Given the description of an element on the screen output the (x, y) to click on. 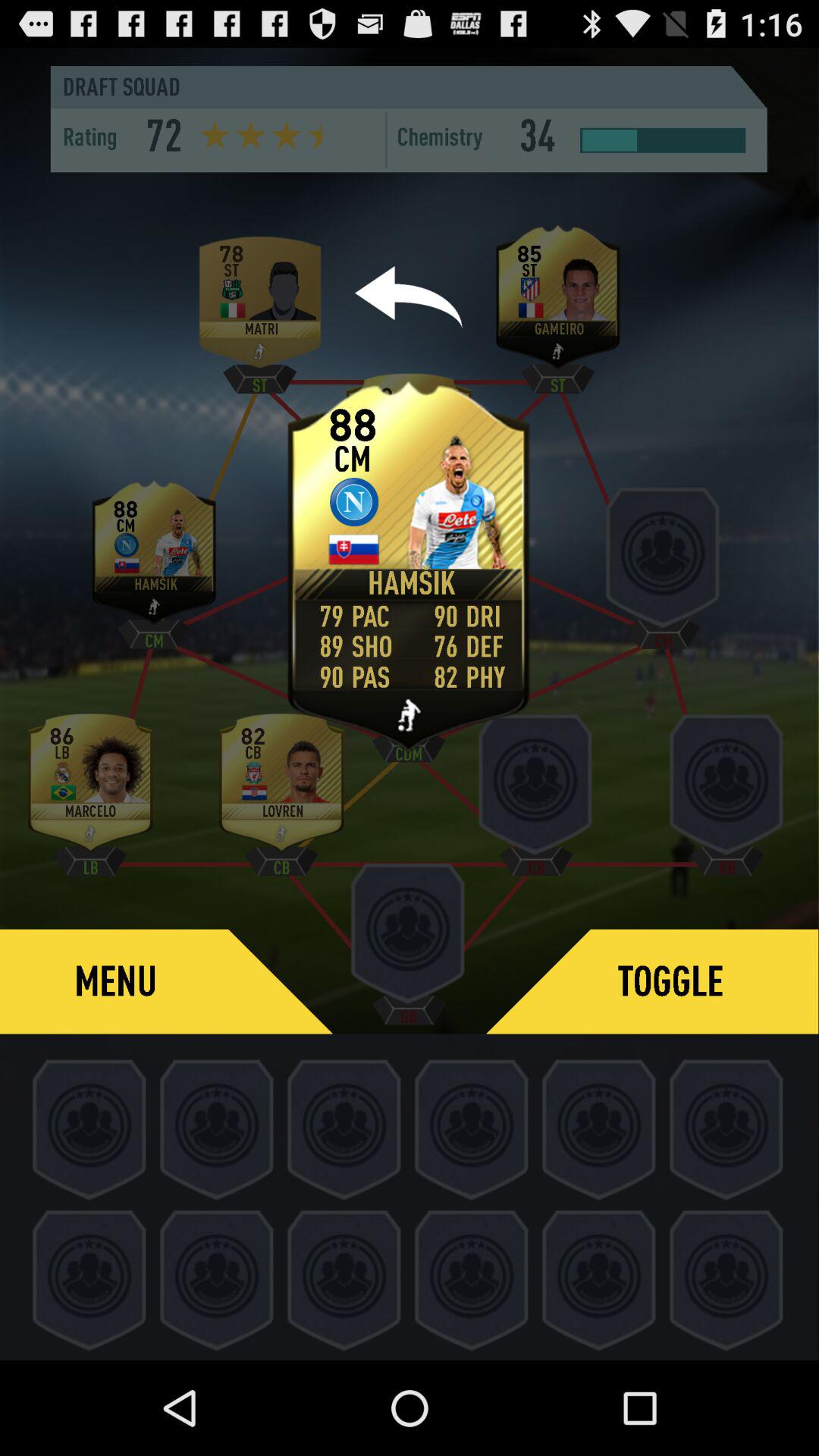
click on the last level at the bottom (727, 1277)
select the second icon in the last row (217, 1277)
click on last level above the menu bar (280, 785)
click on the last level above the toggle (727, 788)
select the first image in the second row (153, 558)
click on the third player profile option in the middle (663, 561)
